Given the description of an element on the screen output the (x, y) to click on. 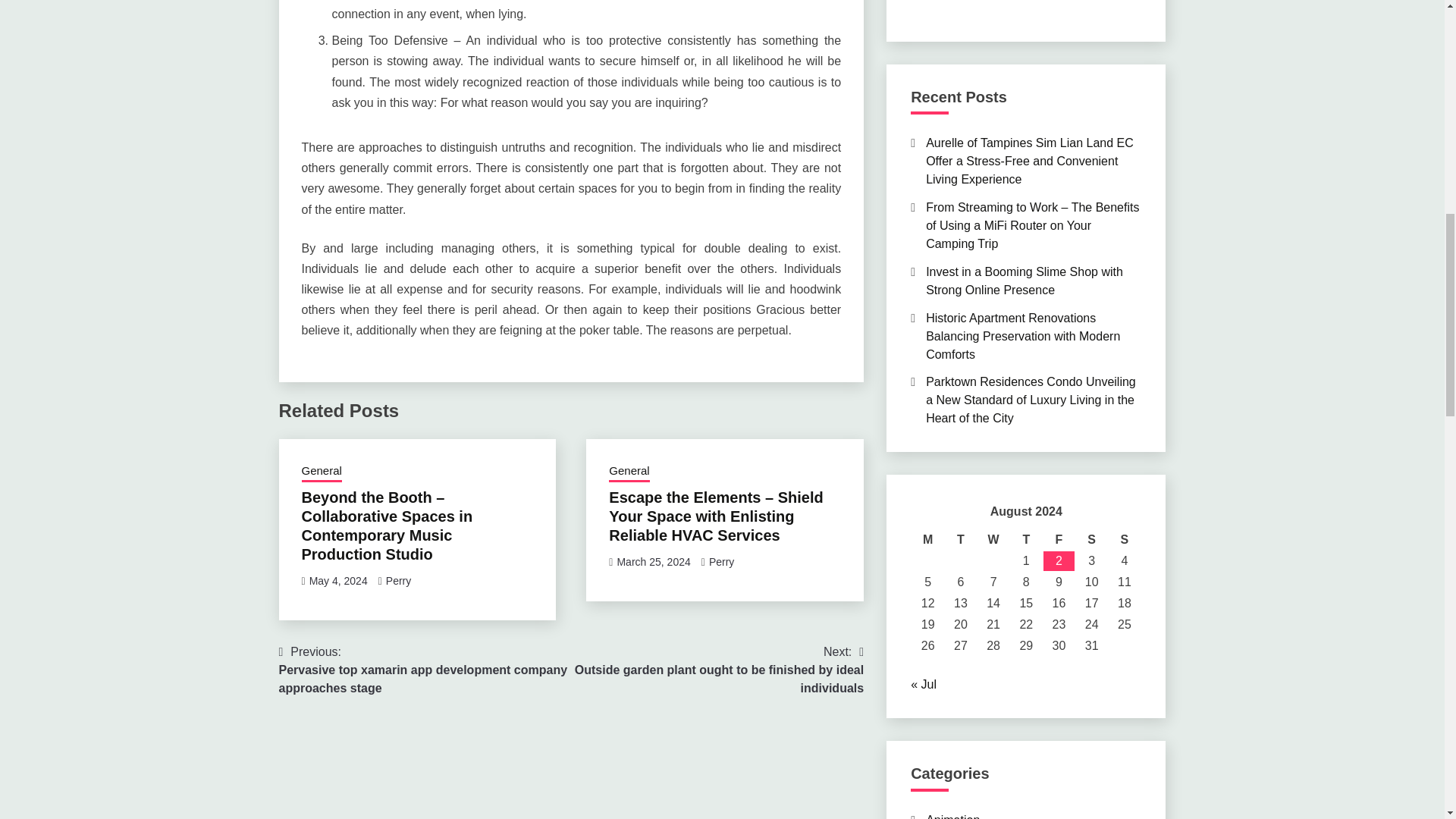
Monday (927, 539)
Saturday (1090, 539)
General (628, 472)
Tuesday (959, 539)
Friday (1058, 539)
Thursday (1026, 539)
March 25, 2024 (652, 562)
Animation (952, 816)
Wednesday (993, 539)
May 4, 2024 (338, 580)
Perry (397, 580)
